Given the description of an element on the screen output the (x, y) to click on. 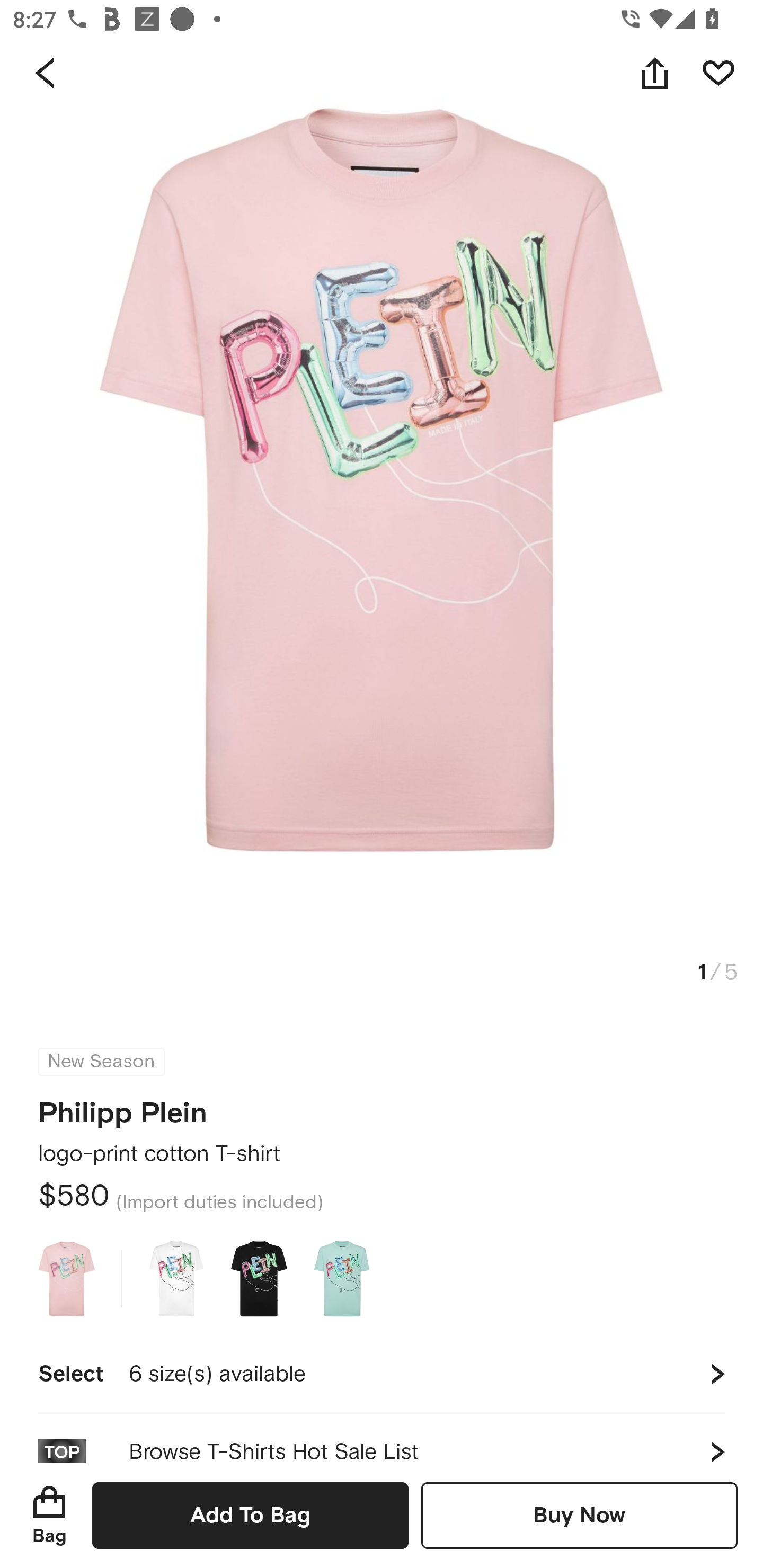
Philipp Plein (122, 1107)
Select 6 size(s) available (381, 1373)
Browse T-Shirts Hot Sale List (381, 1438)
Bag (49, 1515)
Add To Bag (250, 1515)
Buy Now (579, 1515)
